Given the description of an element on the screen output the (x, y) to click on. 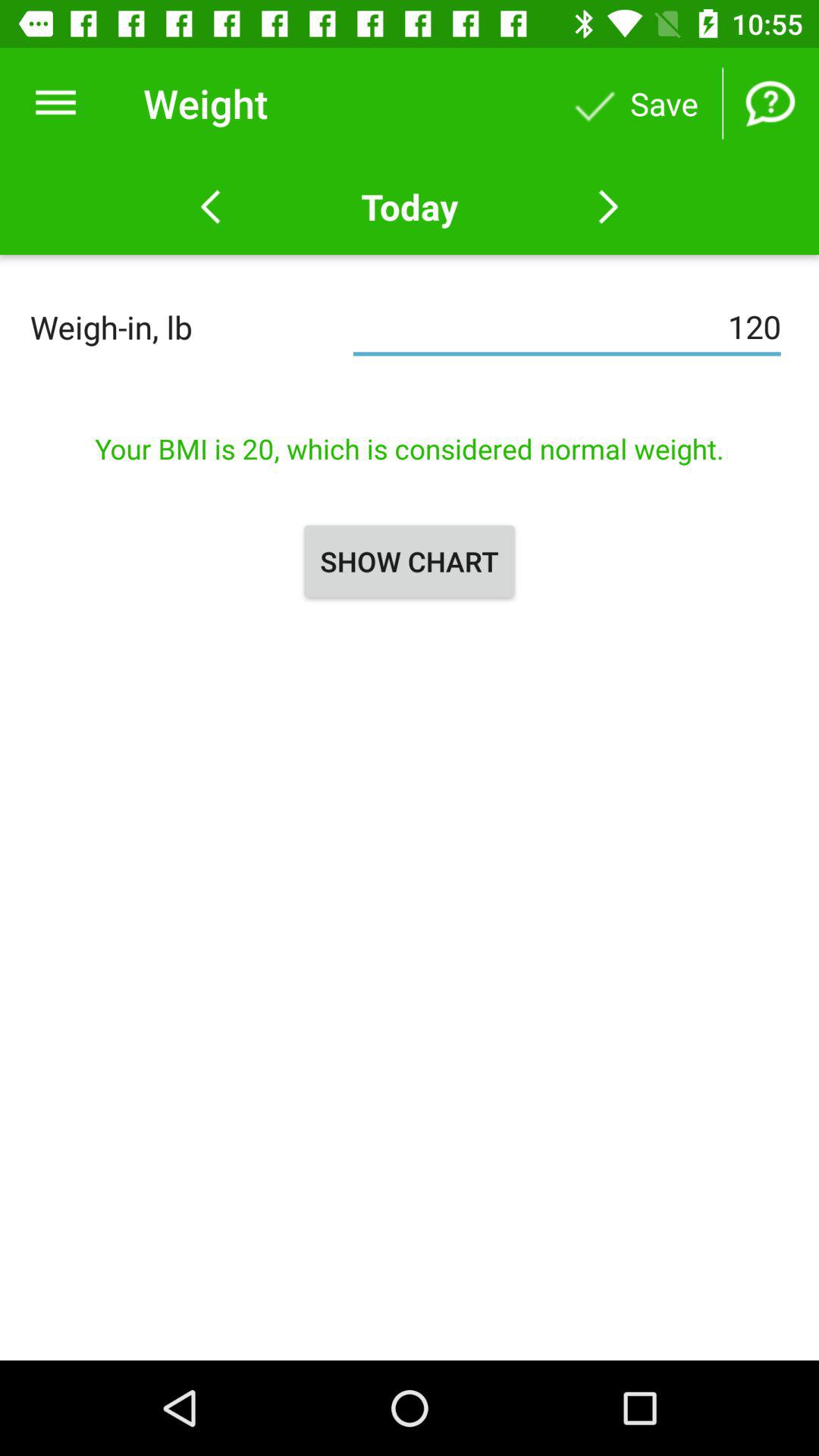
scroll to 120 (566, 326)
